Given the description of an element on the screen output the (x, y) to click on. 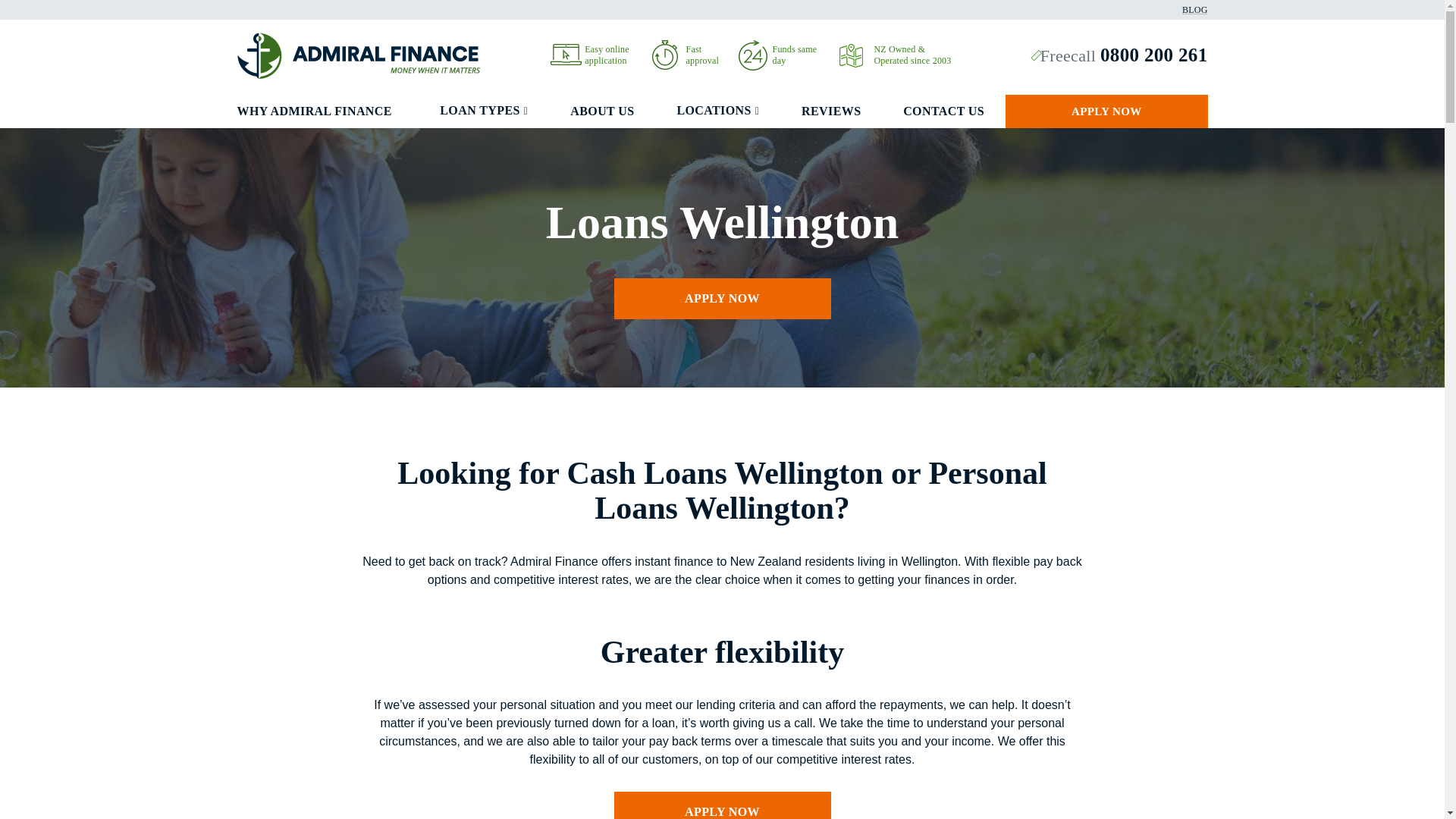
About Admiral Finance (851, 55)
BLOG (1194, 9)
